Given the description of an element on the screen output the (x, y) to click on. 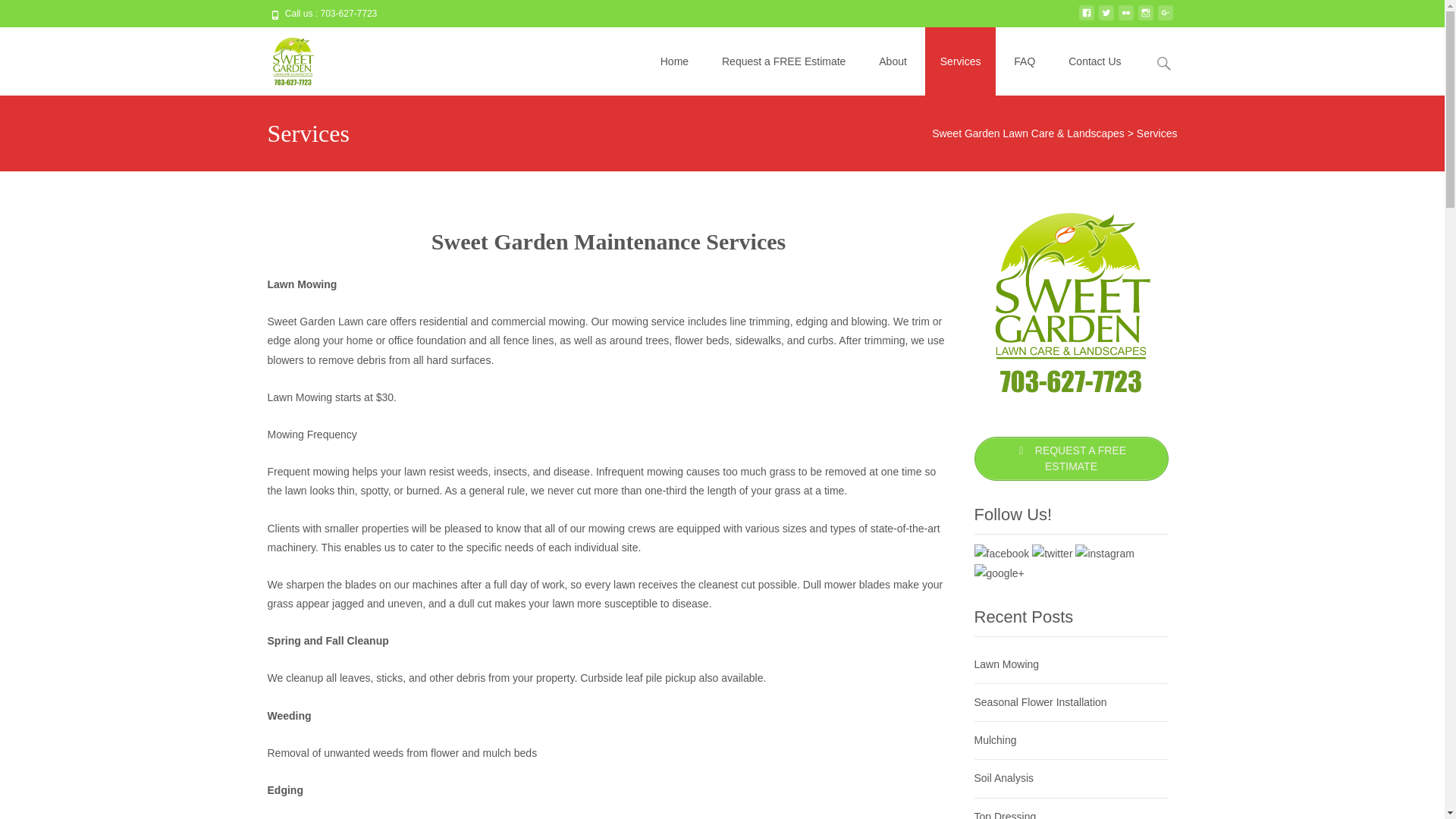
Request a FREE Estimate (783, 61)
Contact Us (1093, 61)
instagram (1145, 19)
Lawn Mowing (1006, 664)
googleplus (1164, 19)
flickr (1125, 19)
facebook (1085, 19)
Services (959, 61)
Search for: (1163, 62)
Seasonal Flower Installation (1040, 702)
Mulching (995, 739)
Search (18, 14)
REQUEST A FREE ESTIMATE (1070, 458)
